Given the description of an element on the screen output the (x, y) to click on. 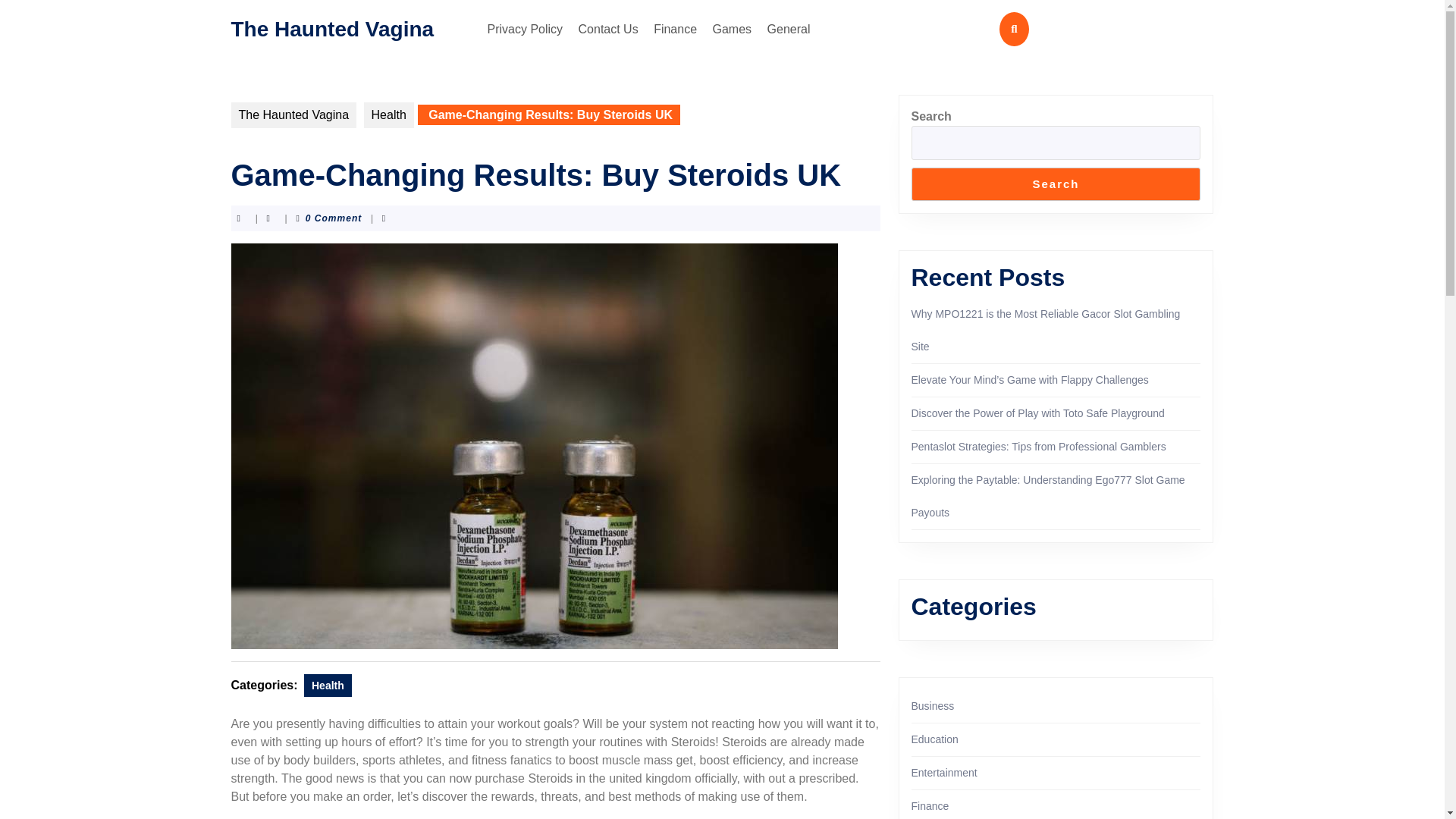
Discover the Power of Play with Toto Safe Playground (1037, 413)
Search (1056, 183)
Privacy Policy (524, 28)
Health (328, 685)
The Haunted Vagina (331, 28)
Finance (675, 28)
Games (732, 28)
Health (388, 114)
The Haunted Vagina (293, 114)
General (788, 28)
